Given the description of an element on the screen output the (x, y) to click on. 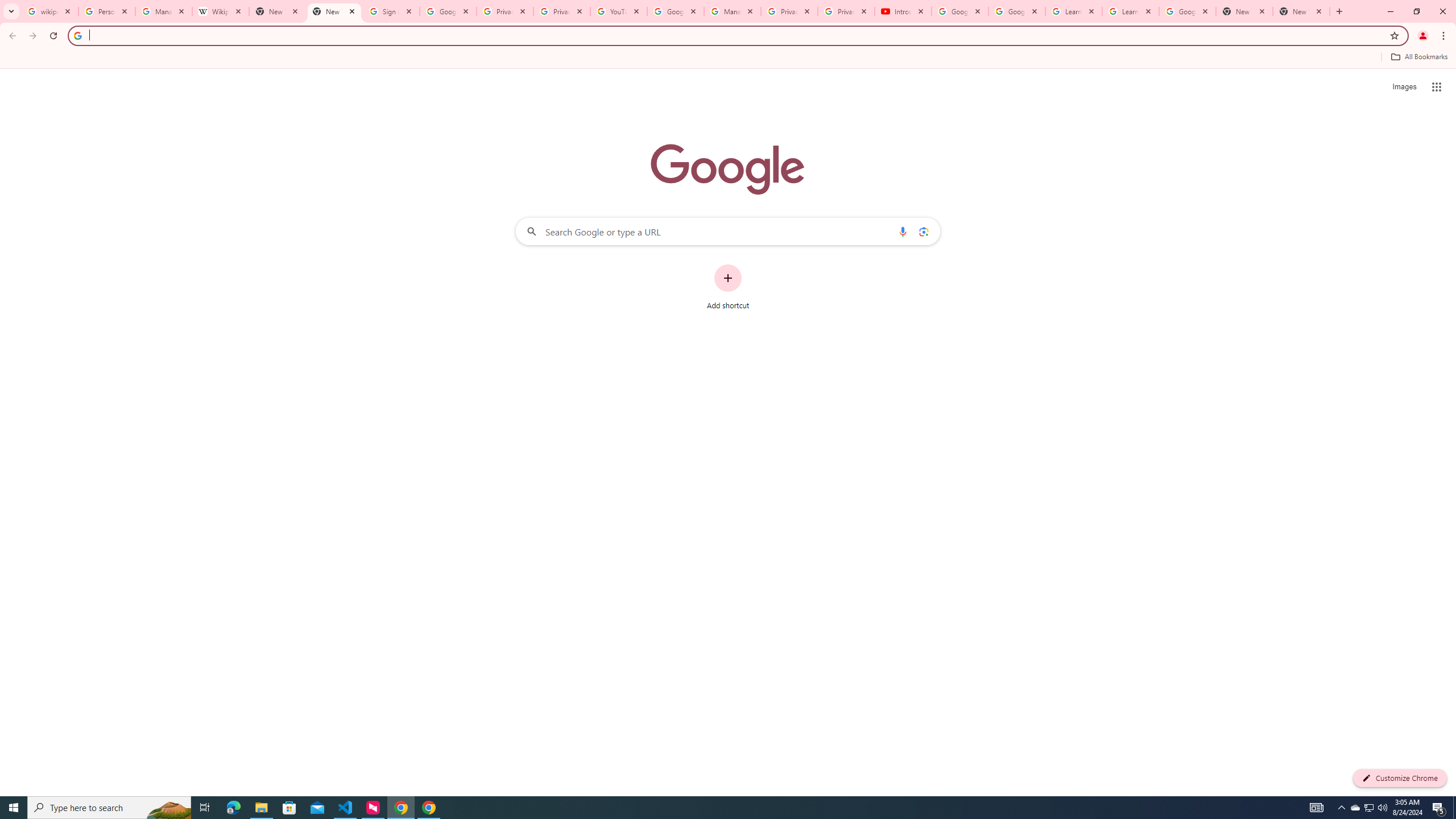
Personalization & Google Search results - Google Search Help (105, 11)
YouTube (618, 11)
